Given the description of an element on the screen output the (x, y) to click on. 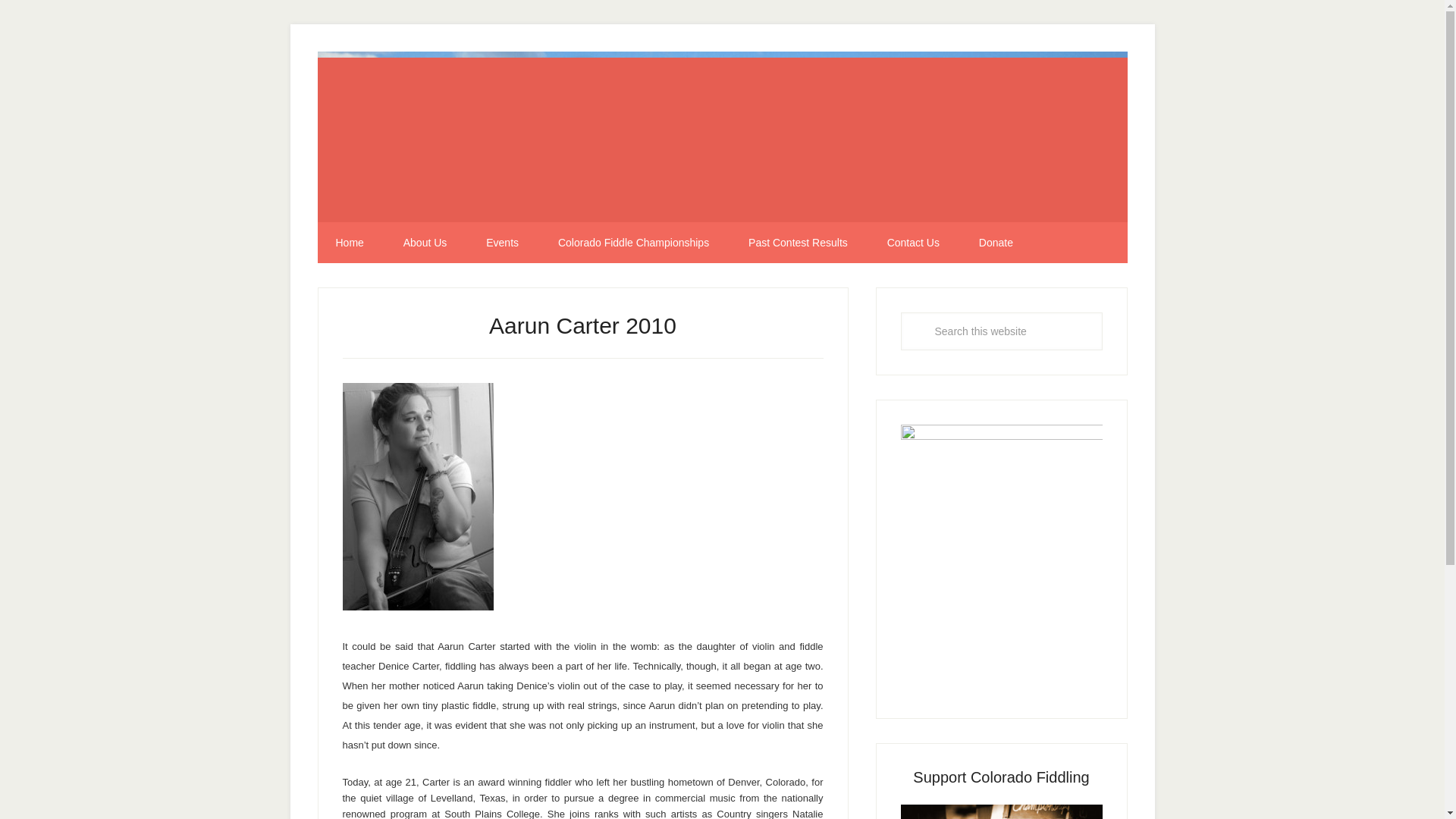
Donate (995, 241)
About Us (425, 241)
Events (502, 241)
Home (349, 241)
Past Contest Results (798, 241)
Contact Us (913, 241)
Colorado Fiddle Championships (633, 241)
